Given the description of an element on the screen output the (x, y) to click on. 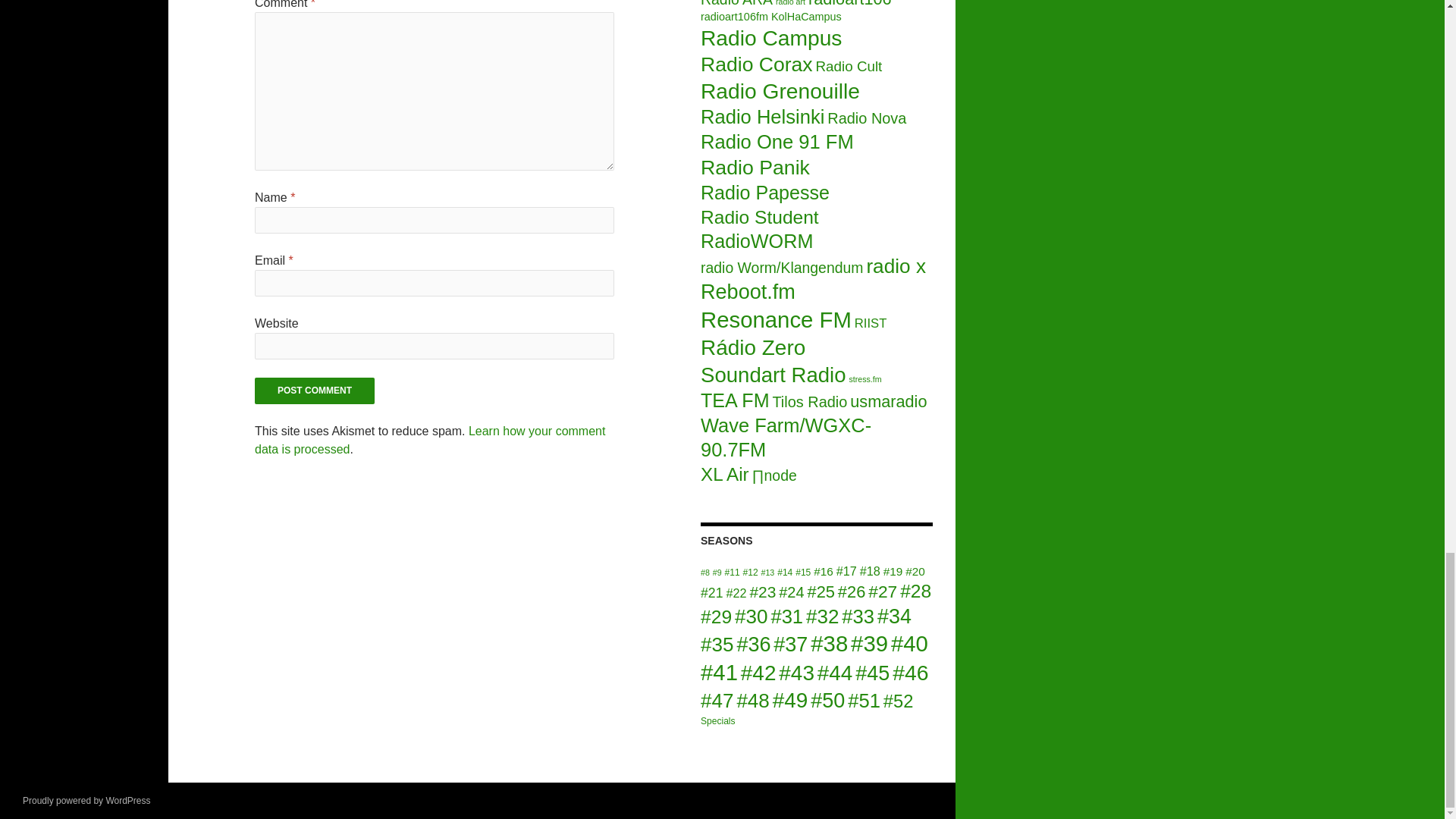
Post Comment (314, 390)
Learn how your comment data is processed (429, 440)
Post Comment (314, 390)
